Given the description of an element on the screen output the (x, y) to click on. 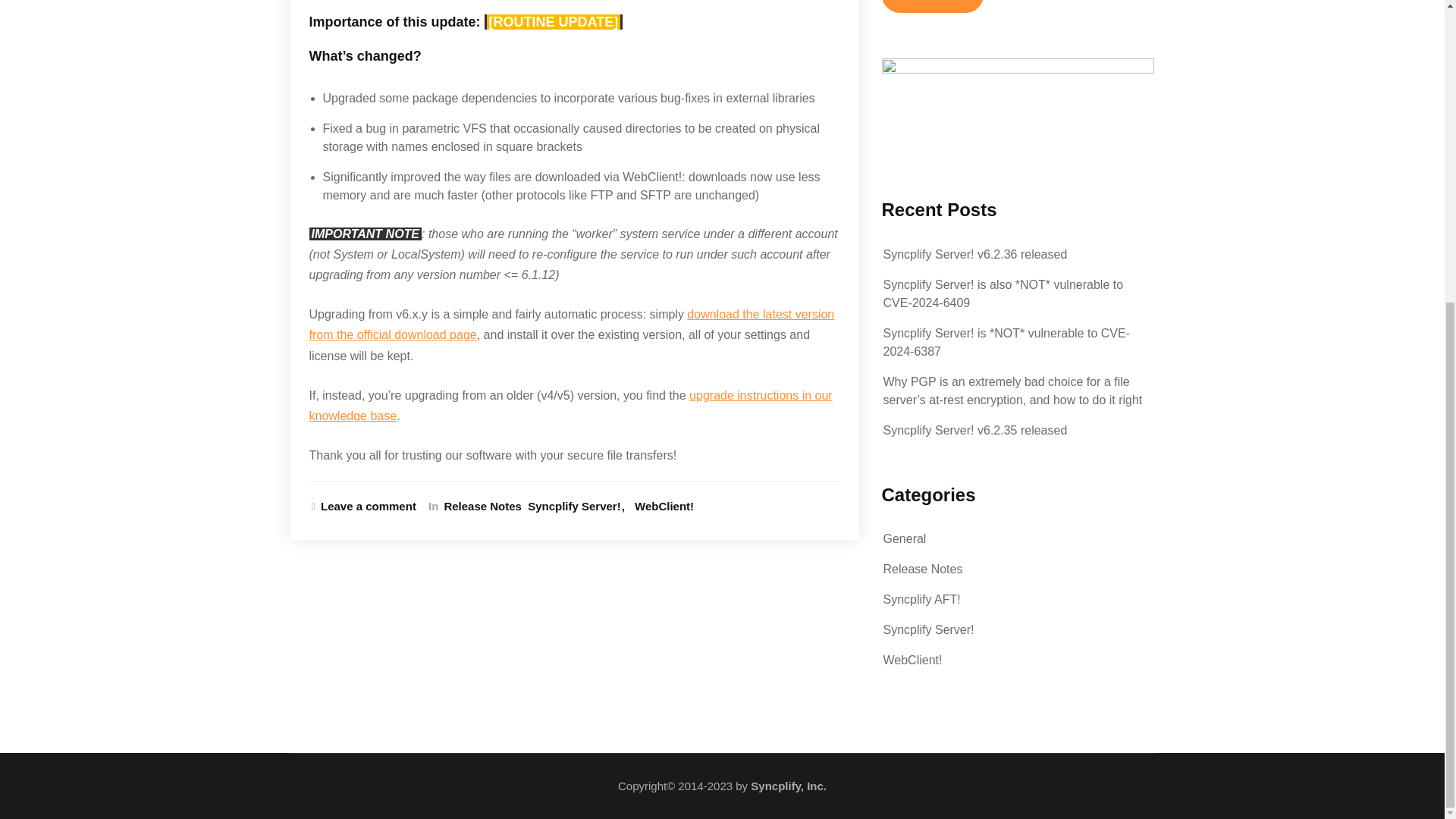
Leave a comment (363, 506)
Release Notes (480, 506)
Syncplify Server! (928, 629)
WebClient! (912, 659)
WebClient! (664, 506)
Search (931, 6)
upgrade instructions in our knowledge base (570, 405)
Syncplify Server! (577, 506)
Syncplify, Inc. (789, 785)
download the latest version from the official download page (571, 324)
Syncplify AFT! (920, 599)
Syncplify Server! v6.2.36 released (974, 254)
Release Notes (922, 568)
Syncplify Server! v6.2.35 released (974, 430)
General (904, 538)
